Given the description of an element on the screen output the (x, y) to click on. 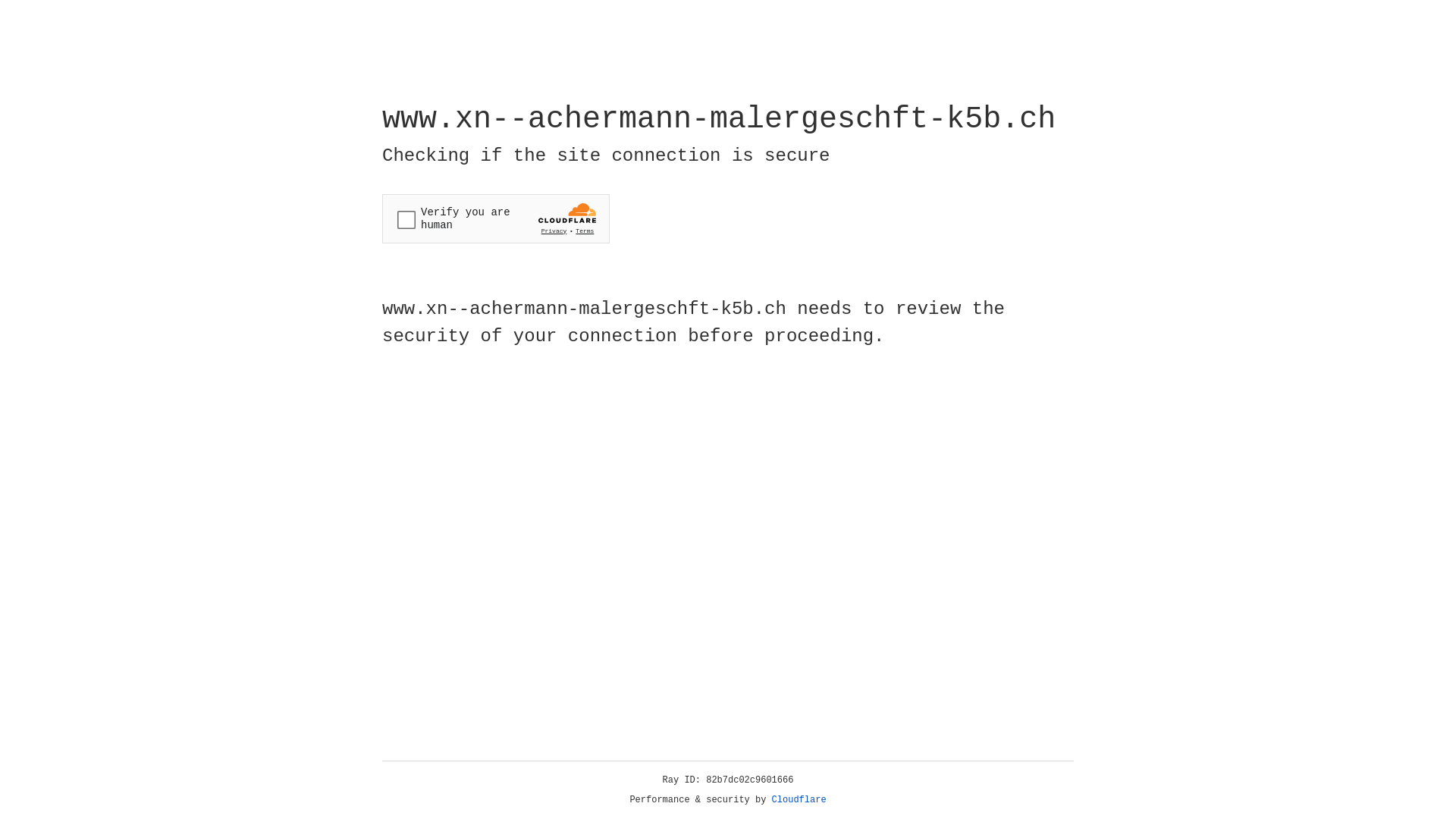
Widget containing a Cloudflare security challenge Element type: hover (495, 218)
Cloudflare Element type: text (798, 799)
